Given the description of an element on the screen output the (x, y) to click on. 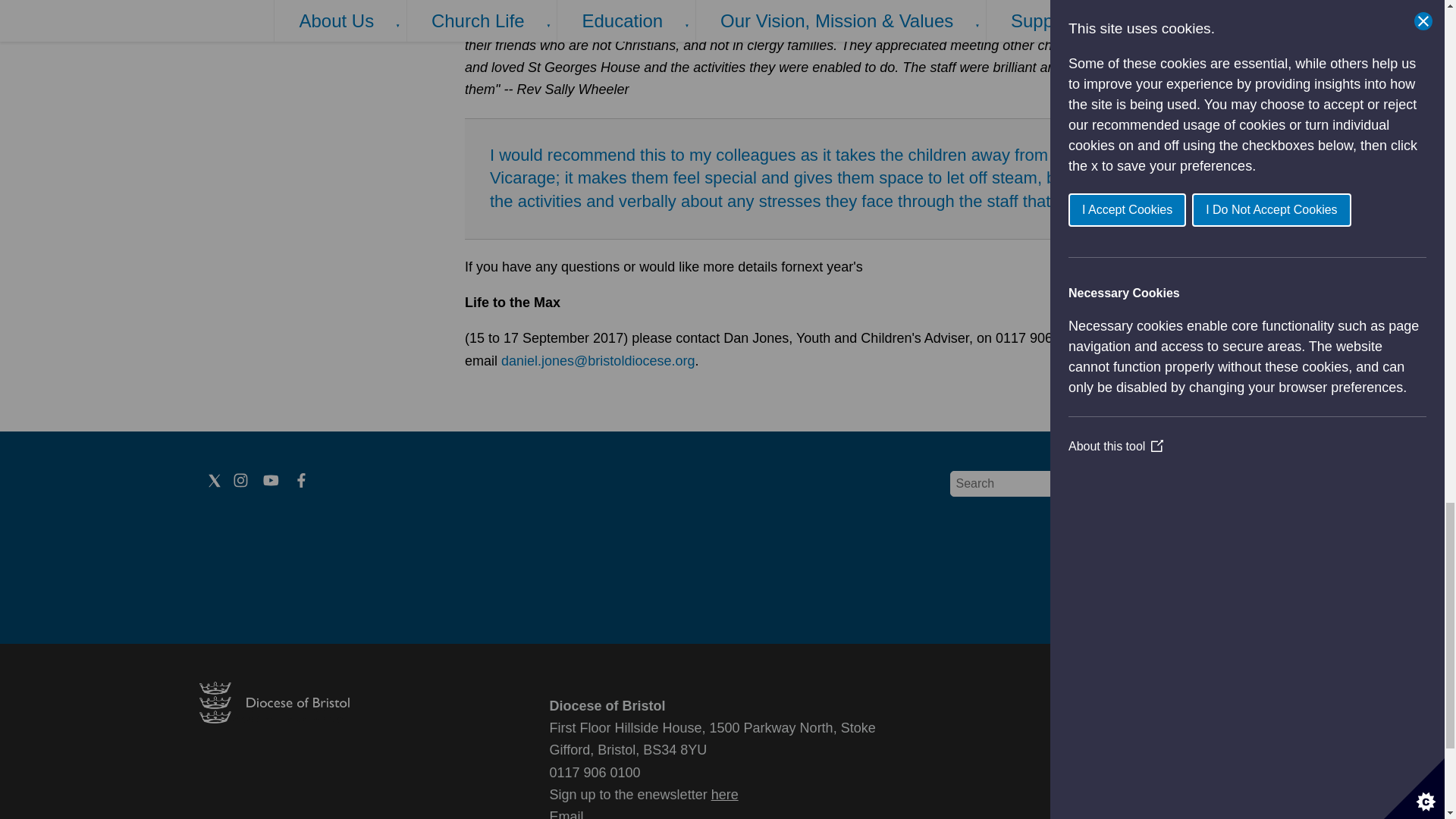
Diocese of Bristol Logo (273, 718)
